Given the description of an element on the screen output the (x, y) to click on. 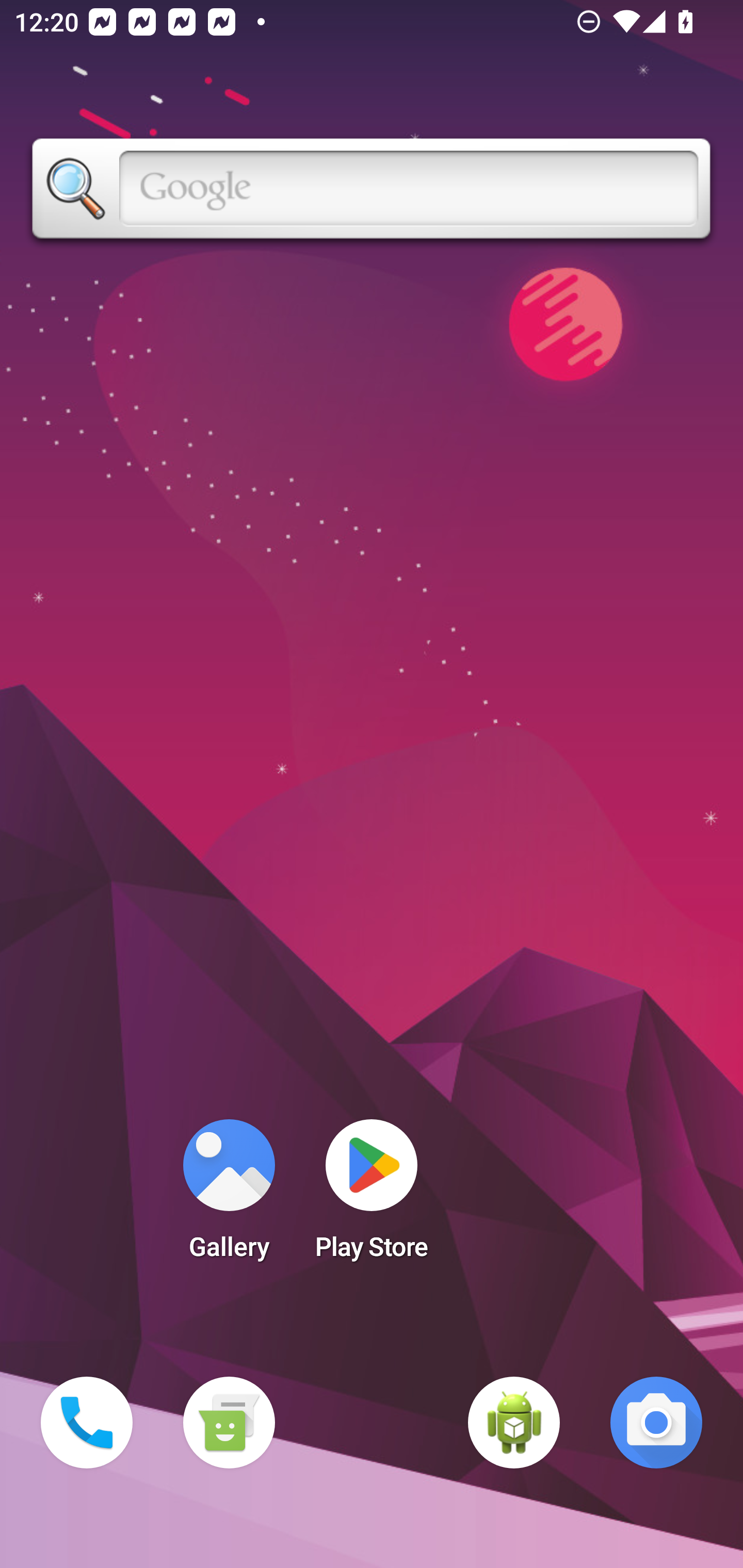
Gallery (228, 1195)
Play Store (371, 1195)
Phone (86, 1422)
Messaging (228, 1422)
WebView Browser Tester (513, 1422)
Camera (656, 1422)
